Given the description of an element on the screen output the (x, y) to click on. 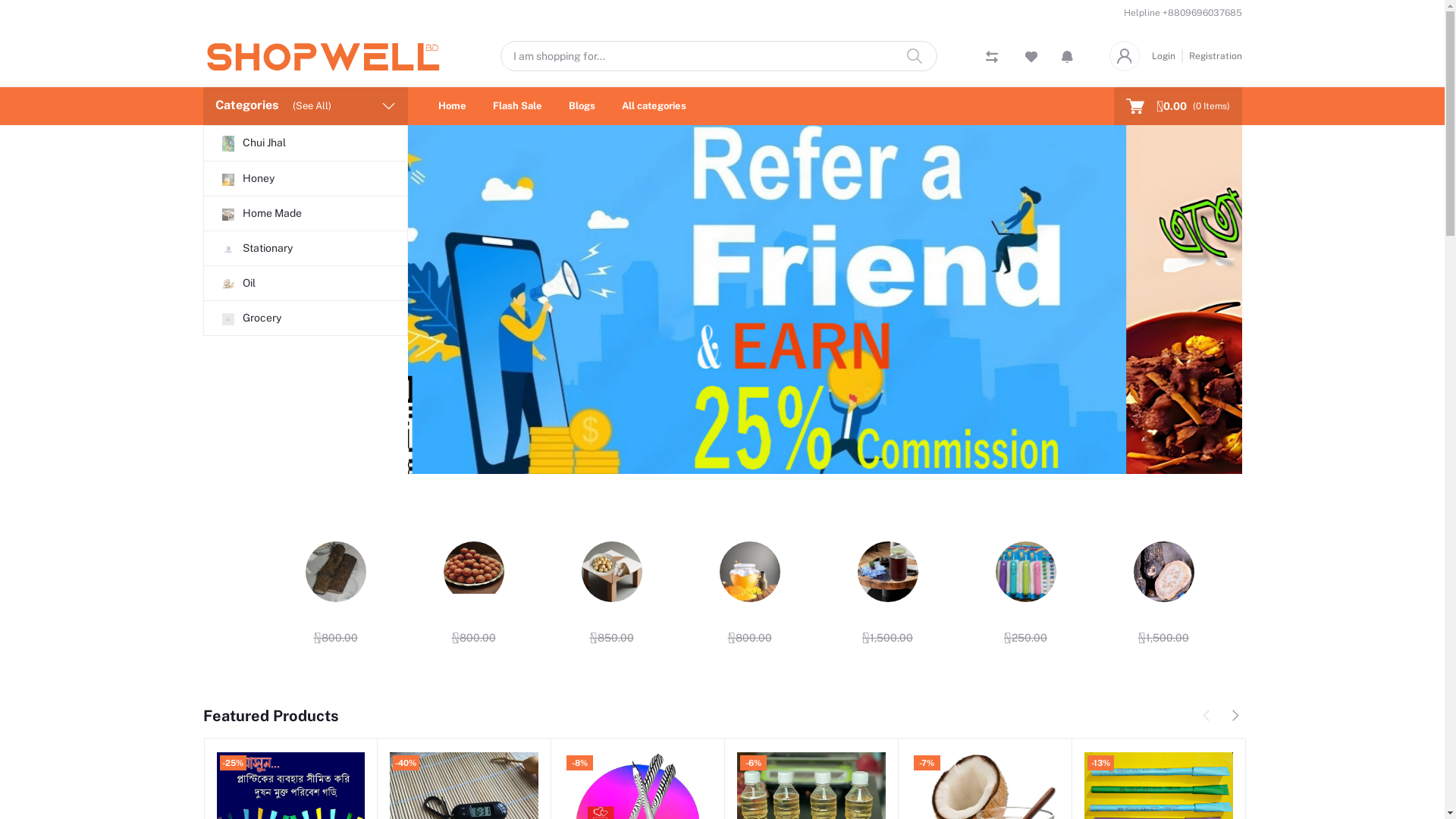
Flash Sale Element type: text (517, 105)
Honey Element type: text (304, 178)
Blogs Element type: text (581, 105)
Registration Element type: text (1212, 56)
Chui Jhal Element type: text (304, 142)
View All Element type: text (1186, 522)
Home Element type: text (452, 105)
Grocery Element type: text (304, 318)
(See All) Element type: text (311, 105)
Helpline +8809696037685 Element type: text (1182, 12)
Login Element type: text (1166, 55)
Home Made Element type: text (304, 213)
All categories Element type: text (653, 105)
Stationary Element type: text (304, 248)
Oil Element type: text (304, 283)
